Given the description of an element on the screen output the (x, y) to click on. 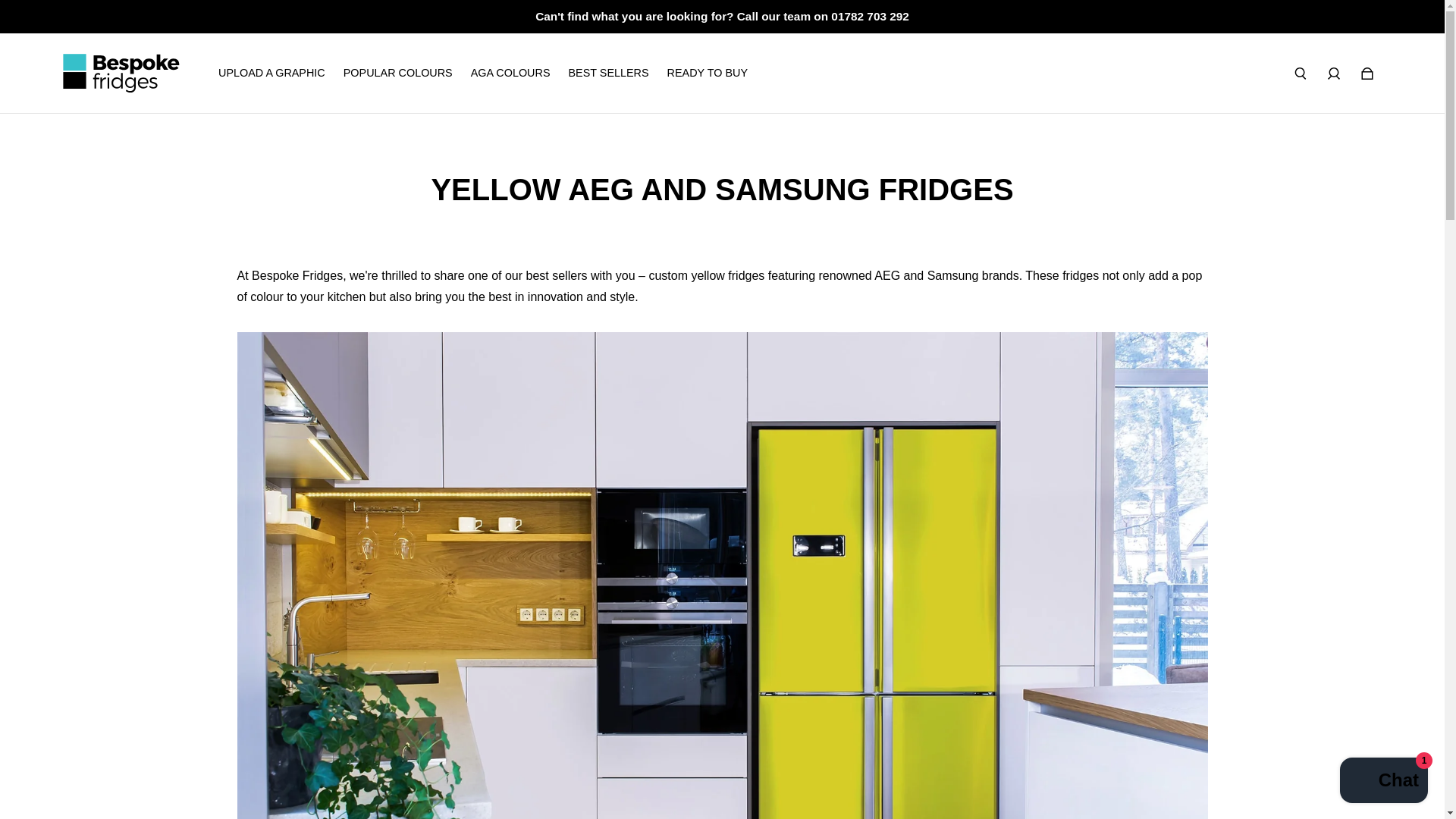
READY TO BUY (707, 72)
UPLOAD A GRAPHIC (271, 72)
POPULAR COLOURS (397, 72)
BEST SELLERS (607, 72)
AGA COLOURS (510, 72)
